Given the description of an element on the screen output the (x, y) to click on. 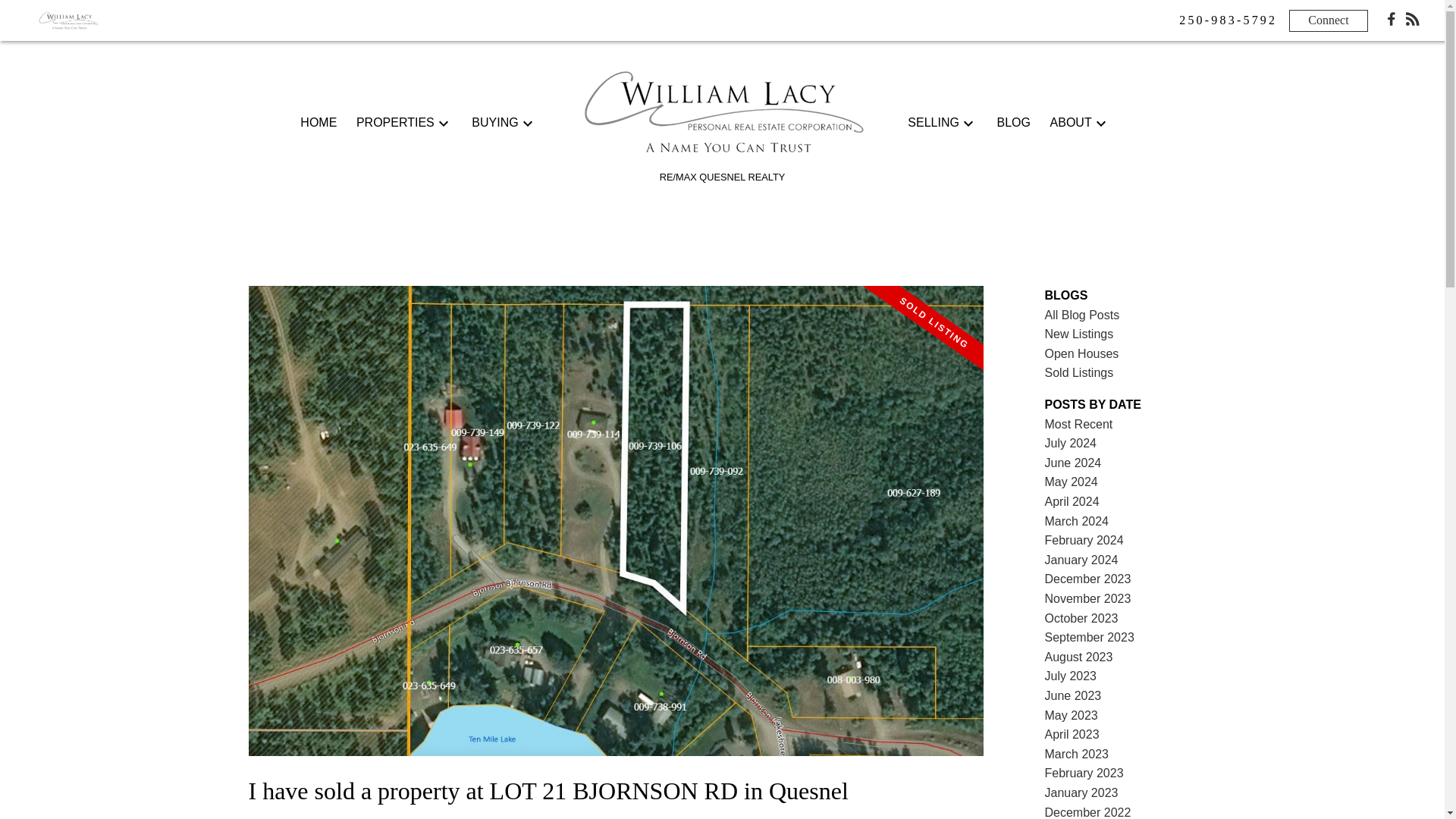
November 2023 (1088, 598)
September 2023 (1089, 636)
Most Recent (1079, 423)
February 2024 (1084, 540)
BLOG (1012, 122)
April 2024 (1072, 501)
December 2023 (1088, 578)
June 2024 (1073, 462)
Open Houses (1082, 353)
May 2024 (1071, 481)
October 2023 (1081, 617)
All Blog Posts (1082, 314)
HOME (317, 122)
March 2024 (1077, 521)
Sold Listings (1079, 372)
